Given the description of an element on the screen output the (x, y) to click on. 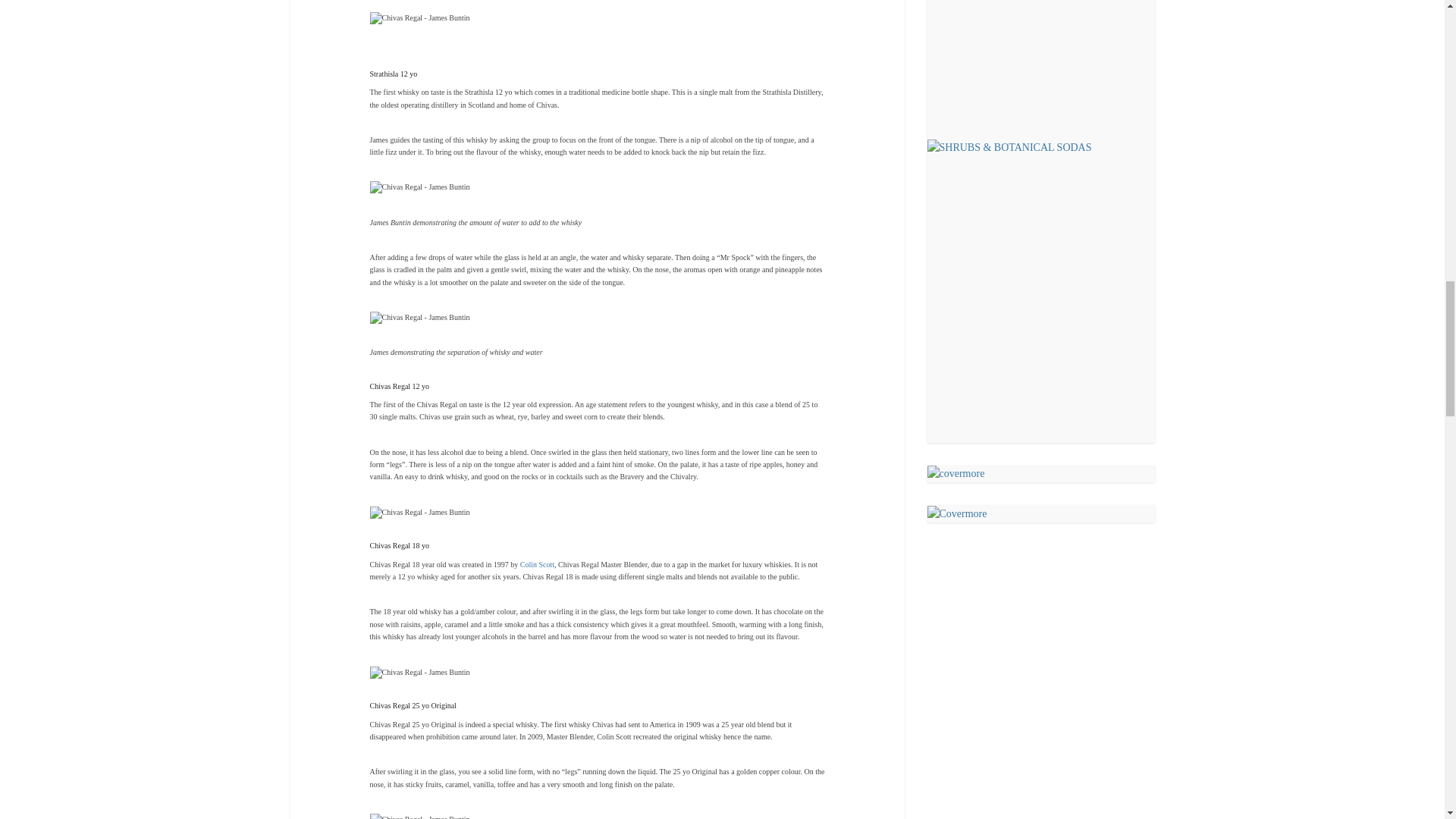
Chivas Regal - James Buntin (419, 317)
Chivas Regal - James Buntin (419, 18)
Chivas Regal - James Buntin (419, 672)
Interview with Colin Scott, Chivas Regal Master Blender (536, 564)
Chivas Regal - James Buntin (419, 512)
Chivas Regal - James Buntin (419, 186)
